Given the description of an element on the screen output the (x, y) to click on. 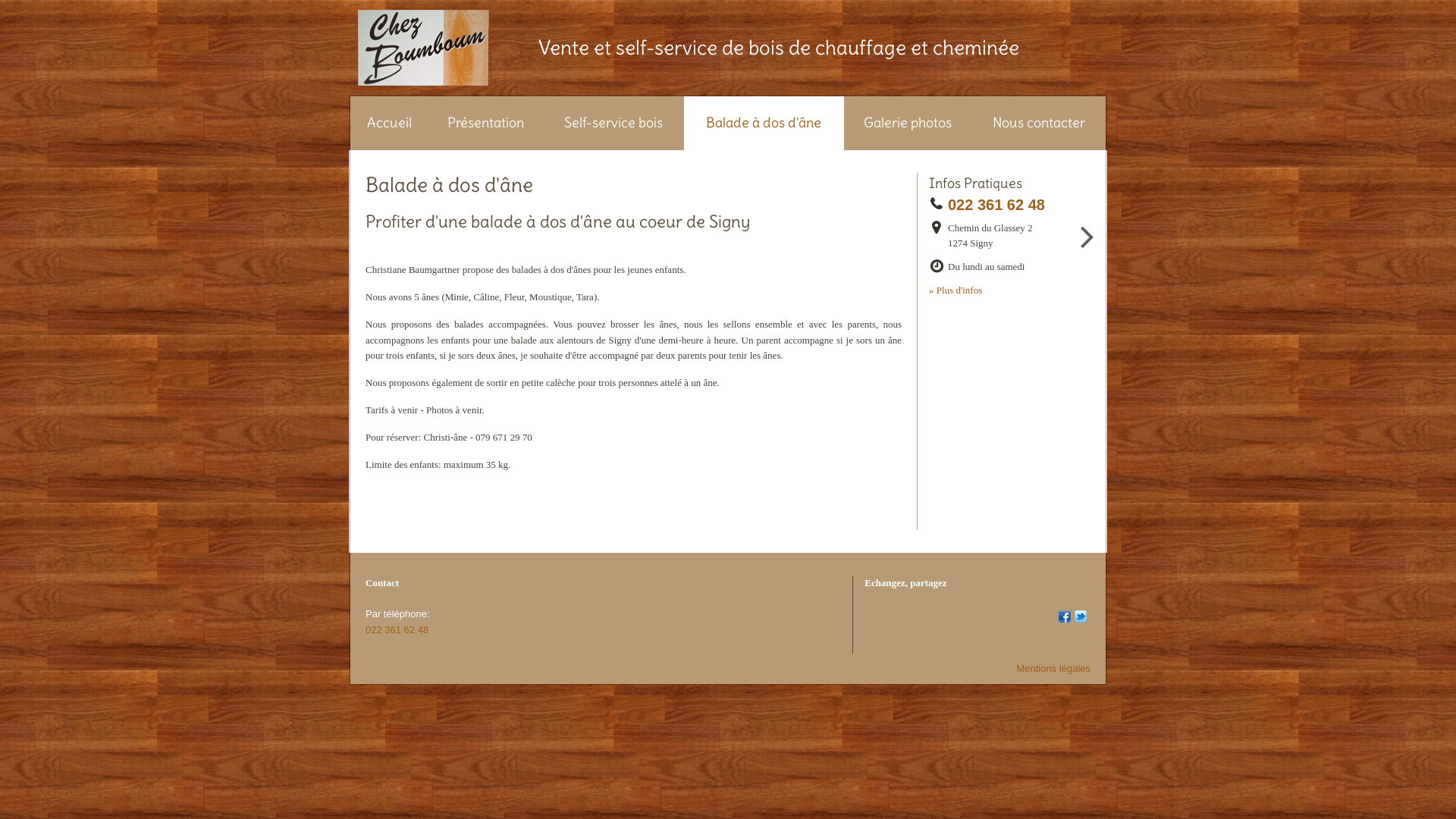
022 361 62 48 Element type: text (1000, 205)
Galerie photos Element type: text (908, 123)
Accueil Element type: text (389, 123)
022 361 62 48 Element type: text (396, 629)
Nous contacter Element type: text (1038, 123)
Self-service bois Element type: text (613, 123)
